Given the description of an element on the screen output the (x, y) to click on. 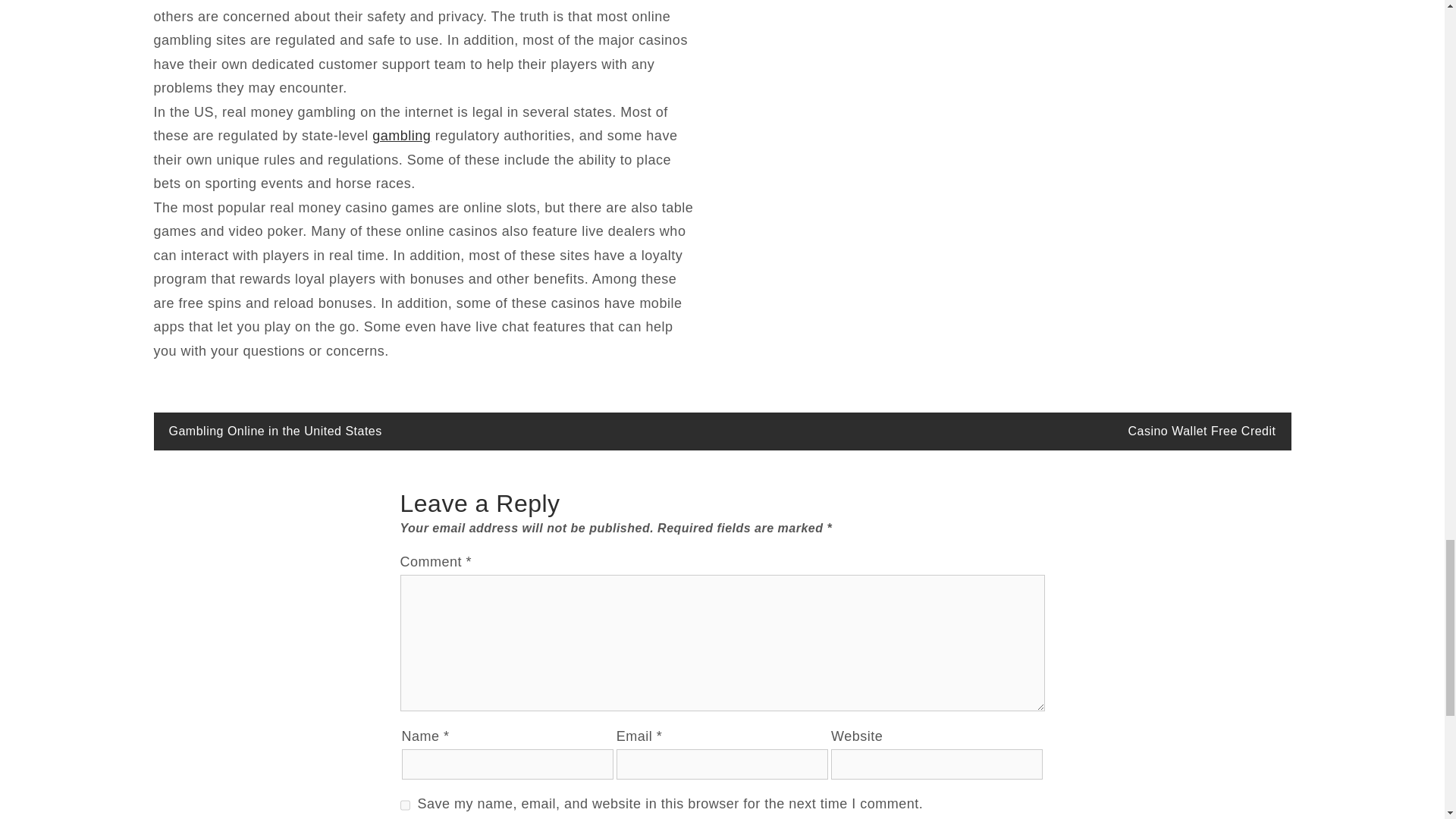
Casino Wallet Free Credit (1200, 431)
gambling (401, 135)
Gambling Online in the United States (274, 431)
